Given the description of an element on the screen output the (x, y) to click on. 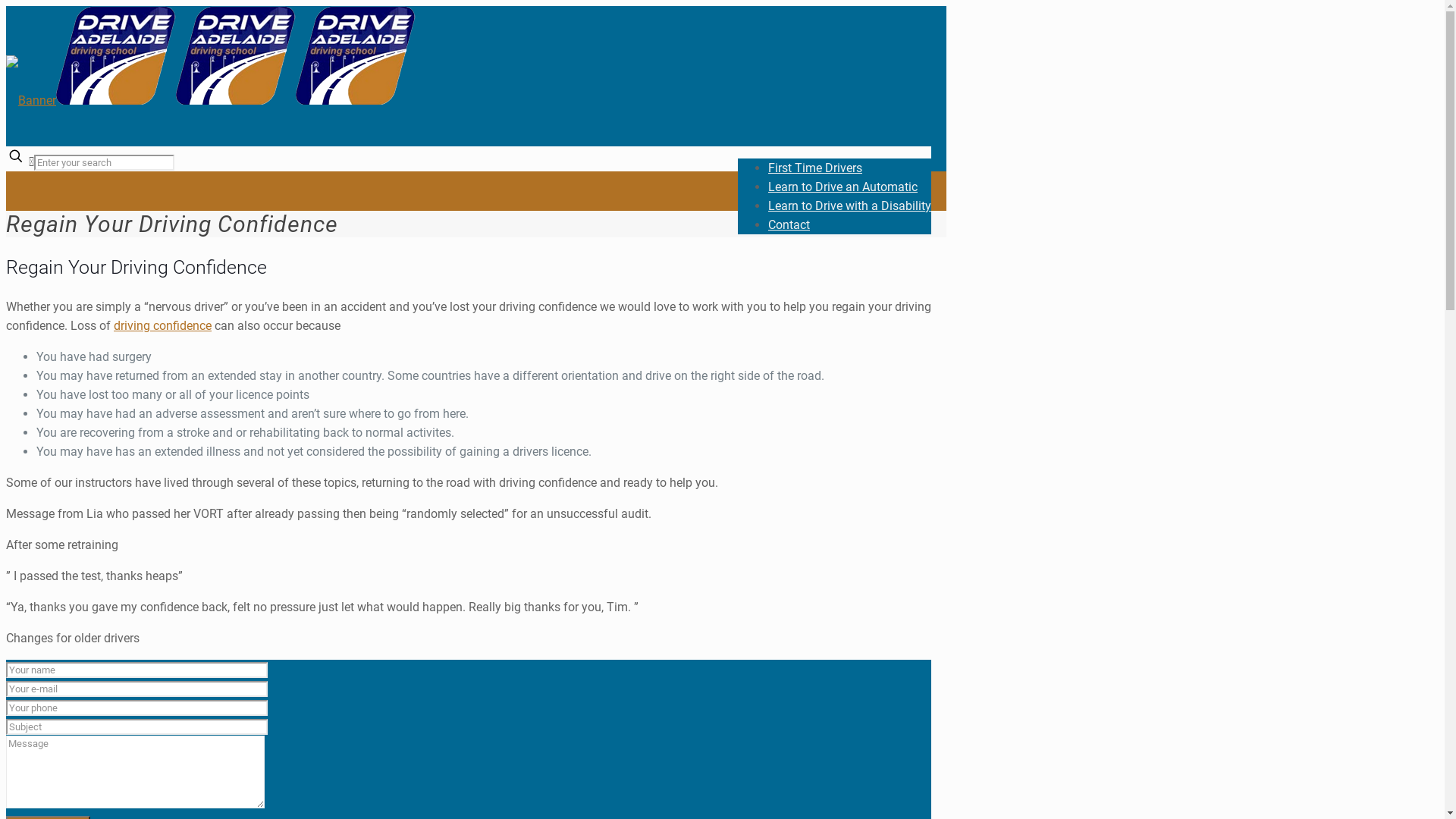
Learn to Drive with a Disability Element type: text (849, 205)
driving confidence Element type: text (162, 325)
First Time Drivers Element type: text (815, 167)
Learn to Drive an Automatic Element type: text (842, 186)
Contact Element type: text (788, 224)
Drive Adelaide Element type: hover (210, 100)
